Given the description of an element on the screen output the (x, y) to click on. 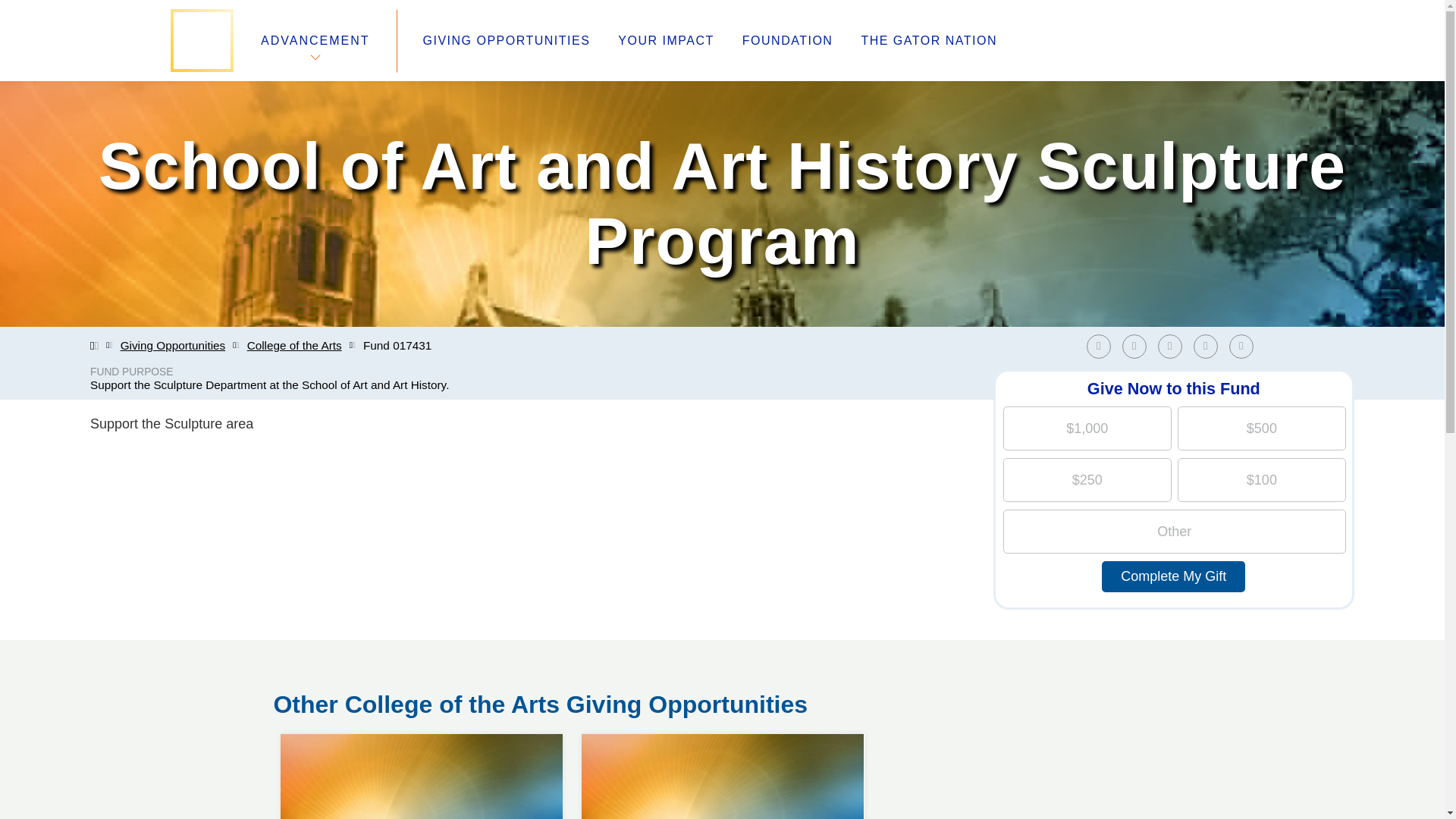
Share on Facebook (1098, 346)
Share by Email (1240, 346)
Giving Opportunities (172, 345)
Share on Reddit (1205, 346)
Complete My Gift (1173, 576)
Share on Twitter (1134, 346)
Share on Facebook (1102, 345)
GIVING OPPORTUNITIES (507, 40)
YOUR IMPACT (665, 40)
THE GATOR NATION (928, 40)
